Given the description of an element on the screen output the (x, y) to click on. 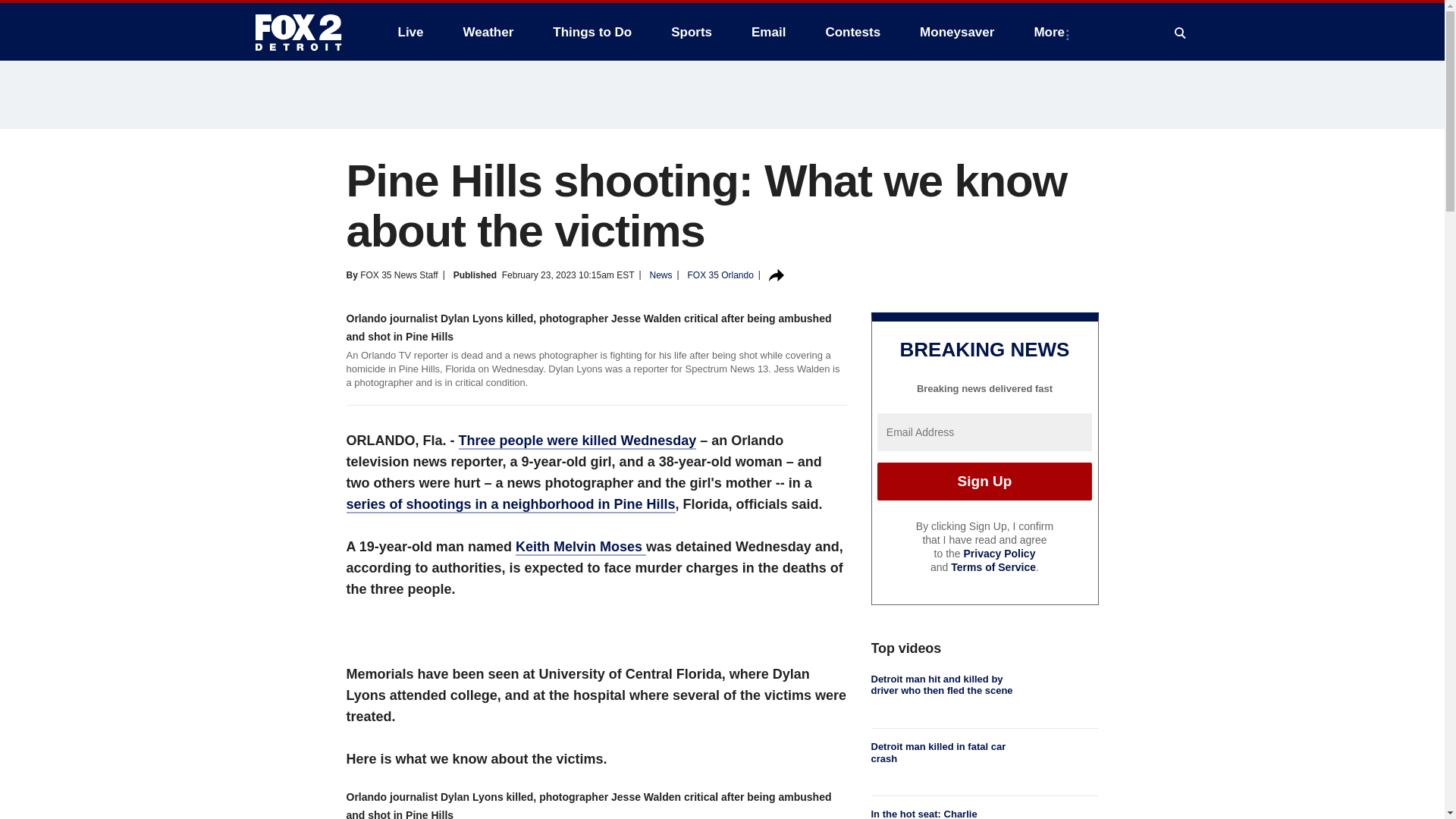
Moneysaver (956, 32)
Sports (691, 32)
Things to Do (591, 32)
More (1052, 32)
Contests (852, 32)
Email (768, 32)
Live (410, 32)
Weather (488, 32)
Sign Up (984, 481)
